Given the description of an element on the screen output the (x, y) to click on. 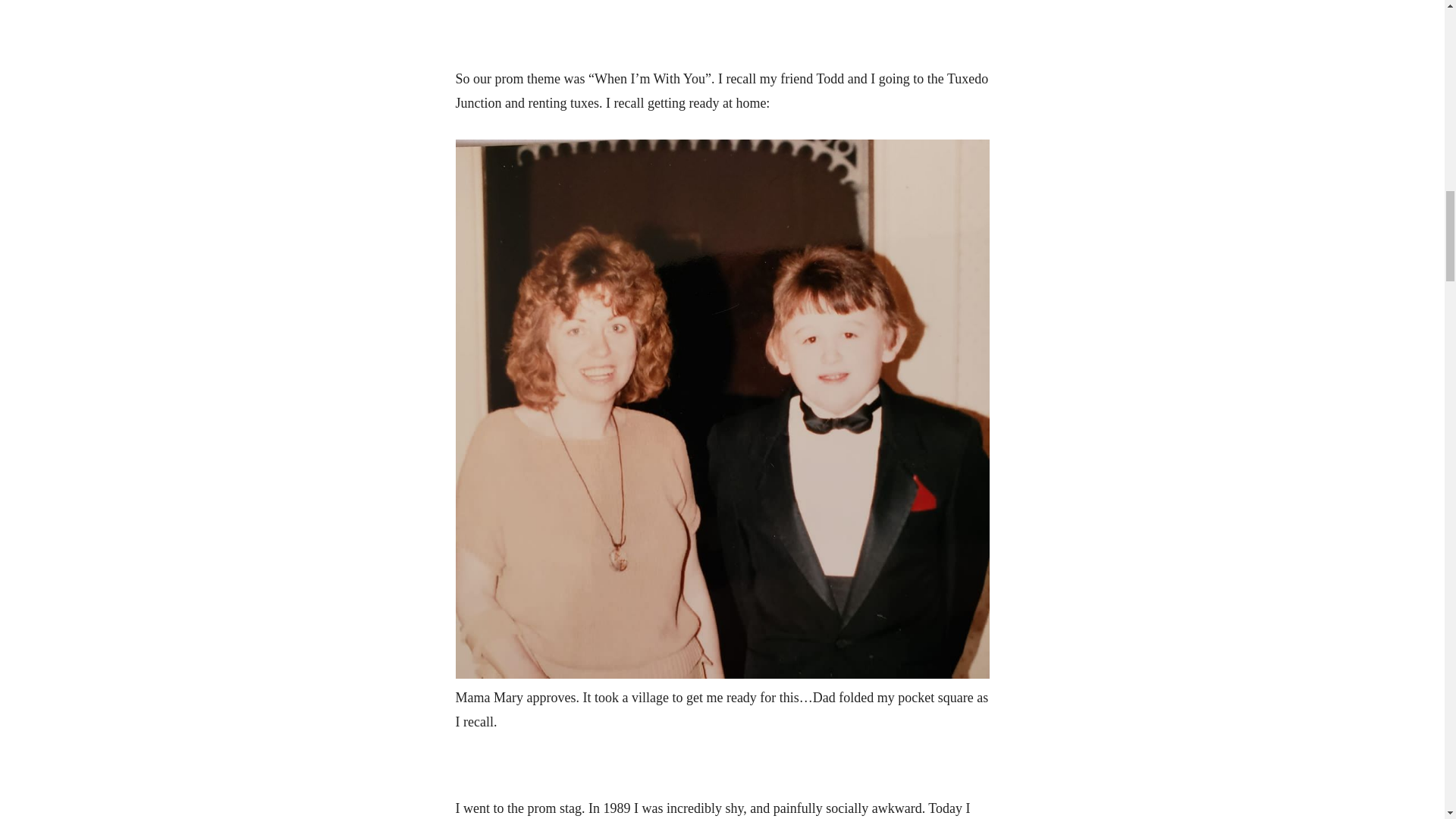
When I'm With You (721, 21)
